Given the description of an element on the screen output the (x, y) to click on. 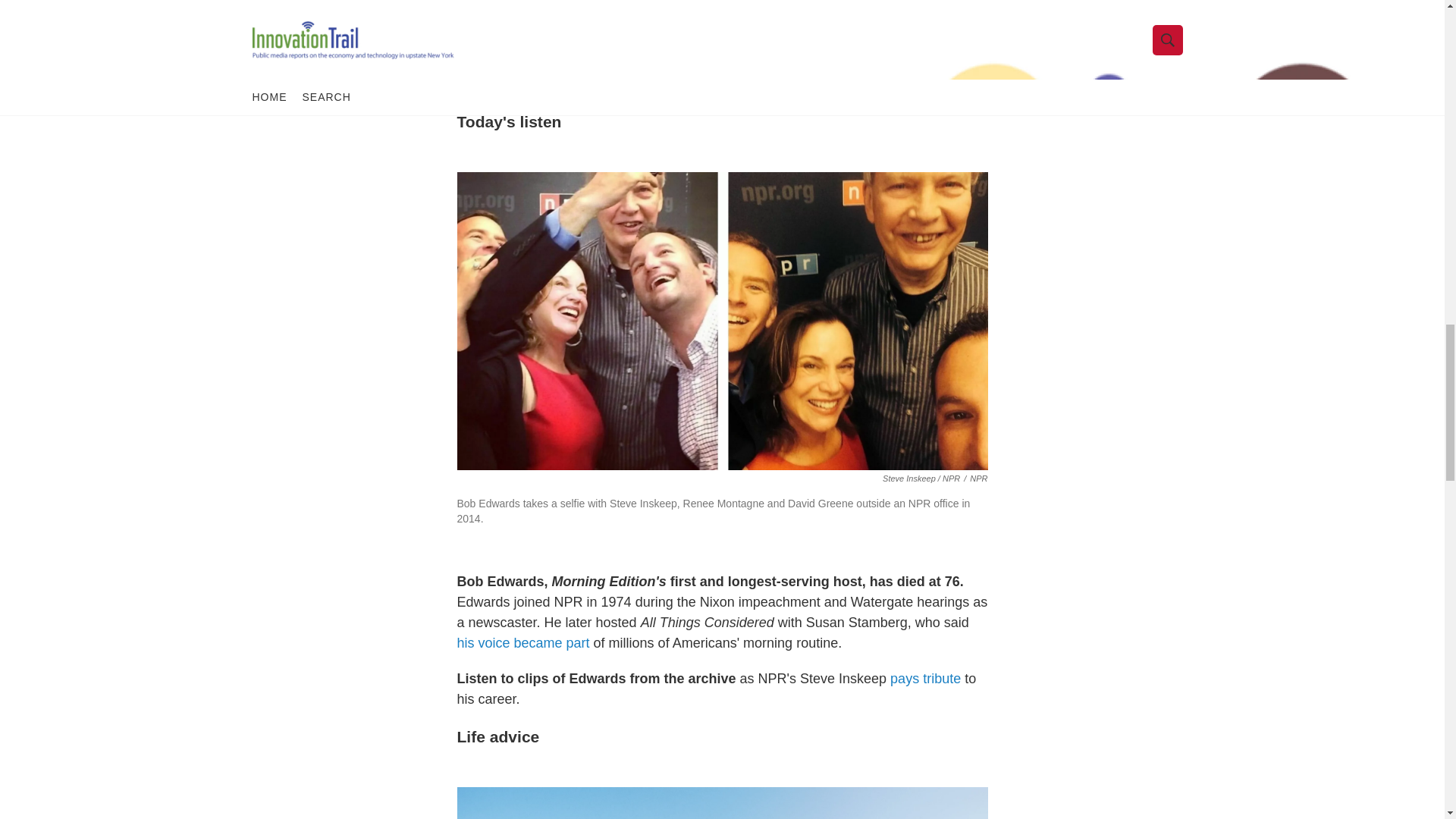
times have changed (672, 43)
pays tribute (924, 678)
his voice became part (523, 642)
